Given the description of an element on the screen output the (x, y) to click on. 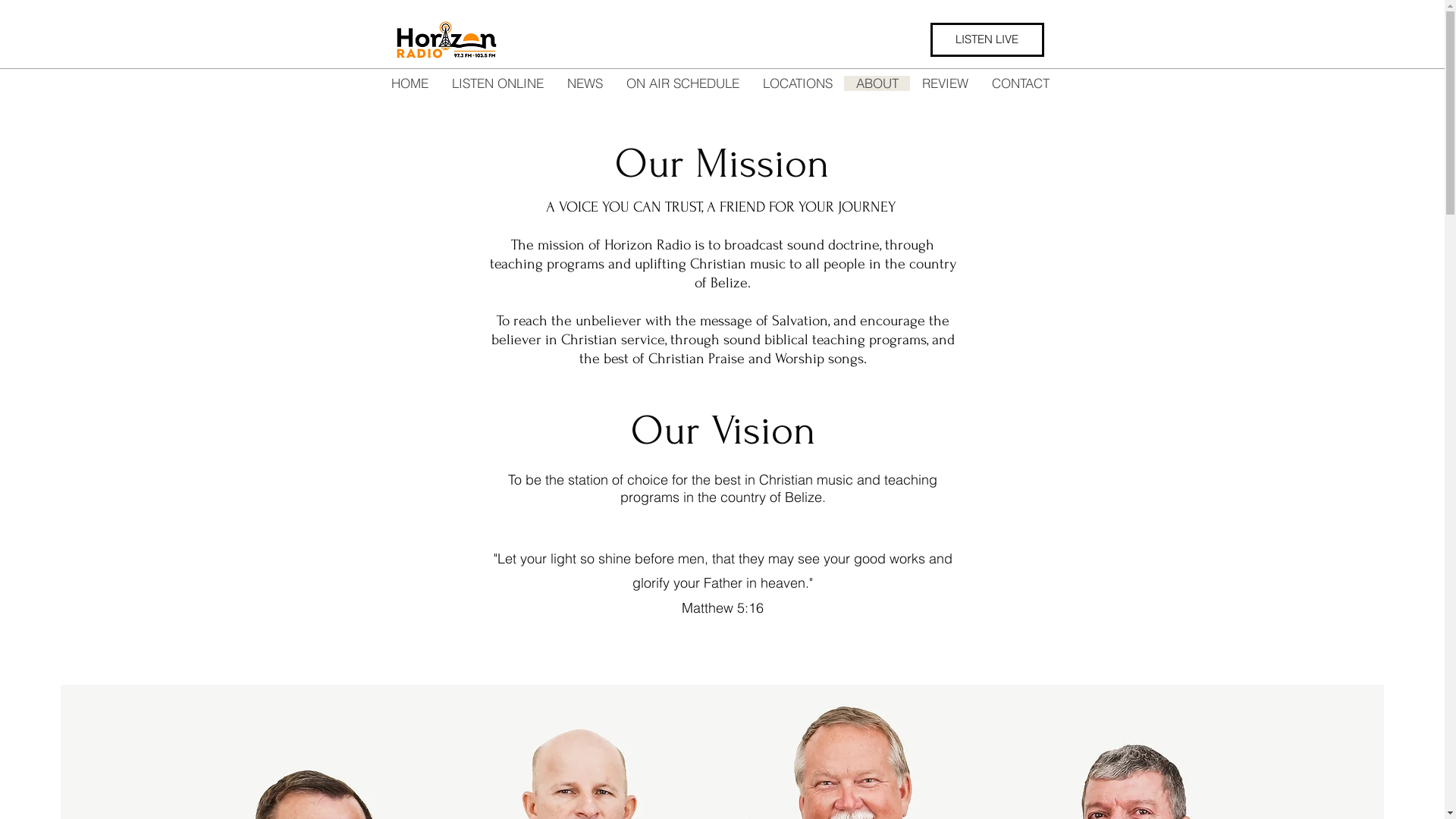
LOCATIONS Element type: text (797, 83)
CONTACT Element type: text (1019, 83)
HOME Element type: text (409, 83)
LISTEN LIVE Element type: text (986, 39)
REVIEW Element type: text (944, 83)
NEWS Element type: text (584, 83)
LISTEN ONLINE Element type: text (497, 83)
ABOUT Element type: text (877, 83)
ON AIR SCHEDULE Element type: text (682, 83)
